Given the description of an element on the screen output the (x, y) to click on. 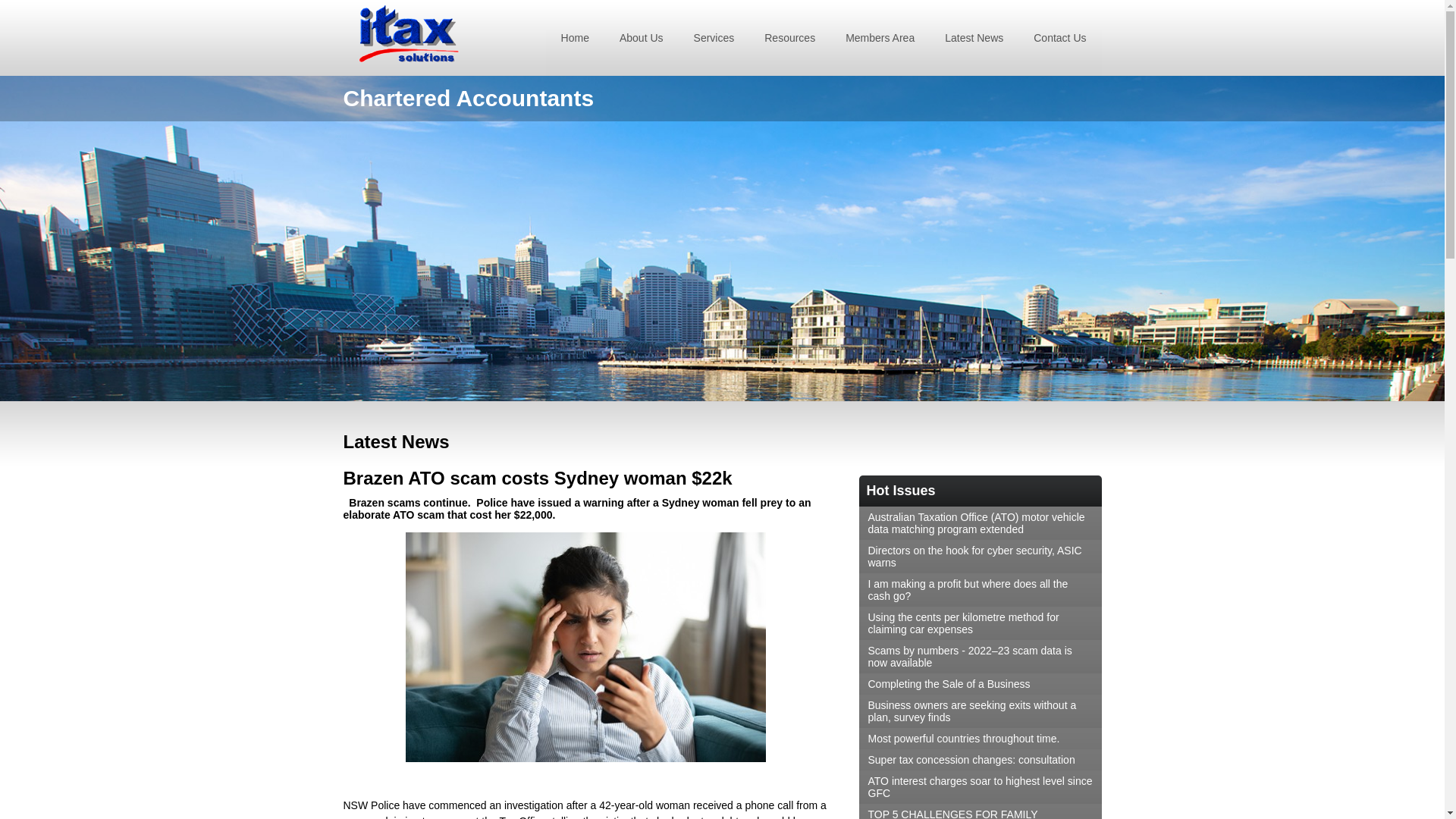
Contact Us Element type: text (1059, 37)
Members Area Element type: text (879, 37)
Home Element type: text (575, 37)
I am making a profit but where does all the cash go? Element type: text (979, 589)
Directors on the hook for cyber security, ASIC warns Element type: text (979, 556)
ATO interest charges soar to highest level since GFC Element type: text (979, 786)
Resources Element type: text (789, 37)
Services Element type: text (713, 37)
Completing the Sale of a Business Element type: text (979, 683)
Most powerful countries throughout time. Element type: text (979, 738)
Super tax concession changes: consultation Element type: text (979, 759)
Latest News Element type: text (973, 37)
About Us Element type: text (641, 37)
